Given the description of an element on the screen output the (x, y) to click on. 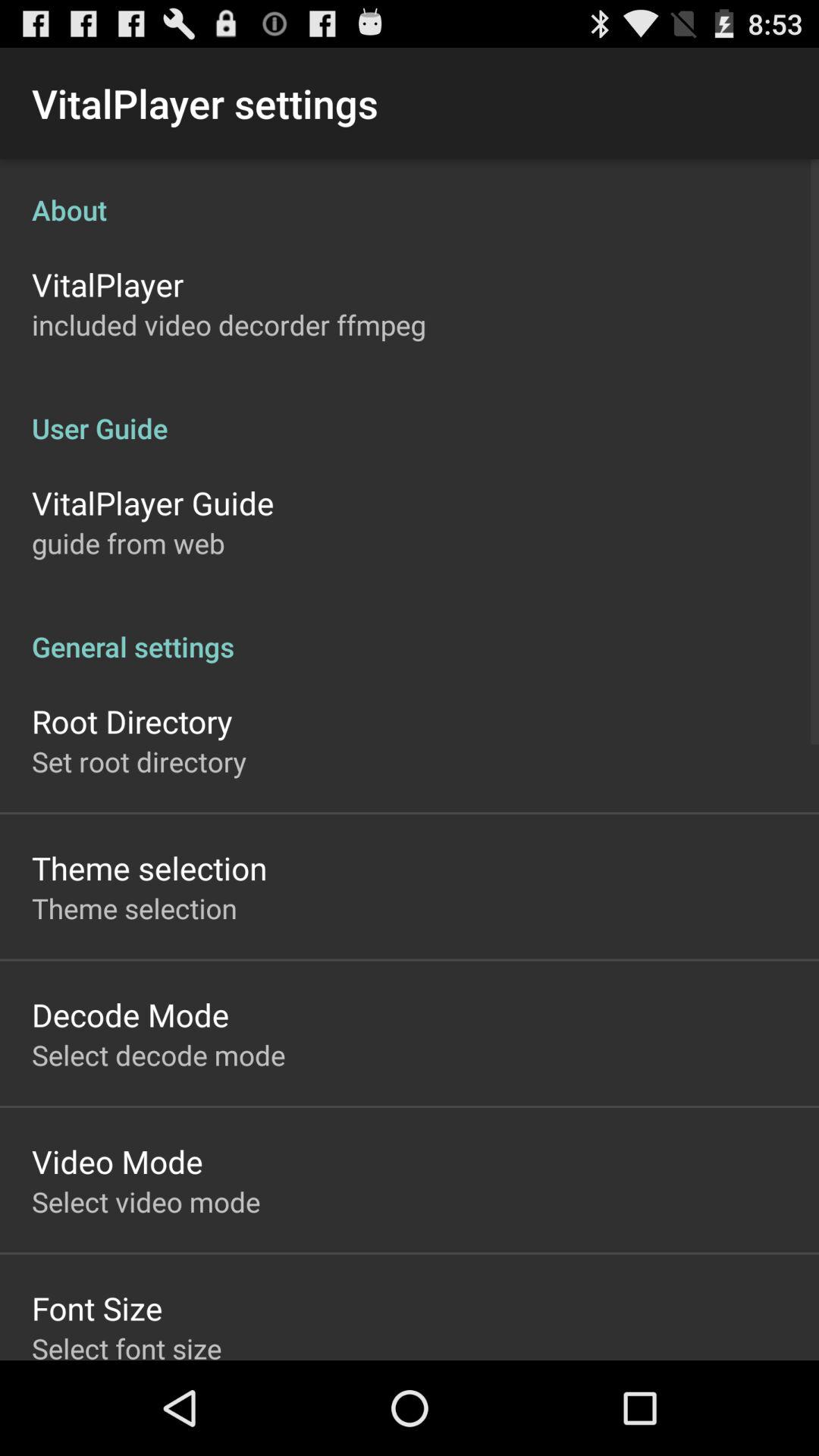
turn on the app above the general settings icon (127, 542)
